Given the description of an element on the screen output the (x, y) to click on. 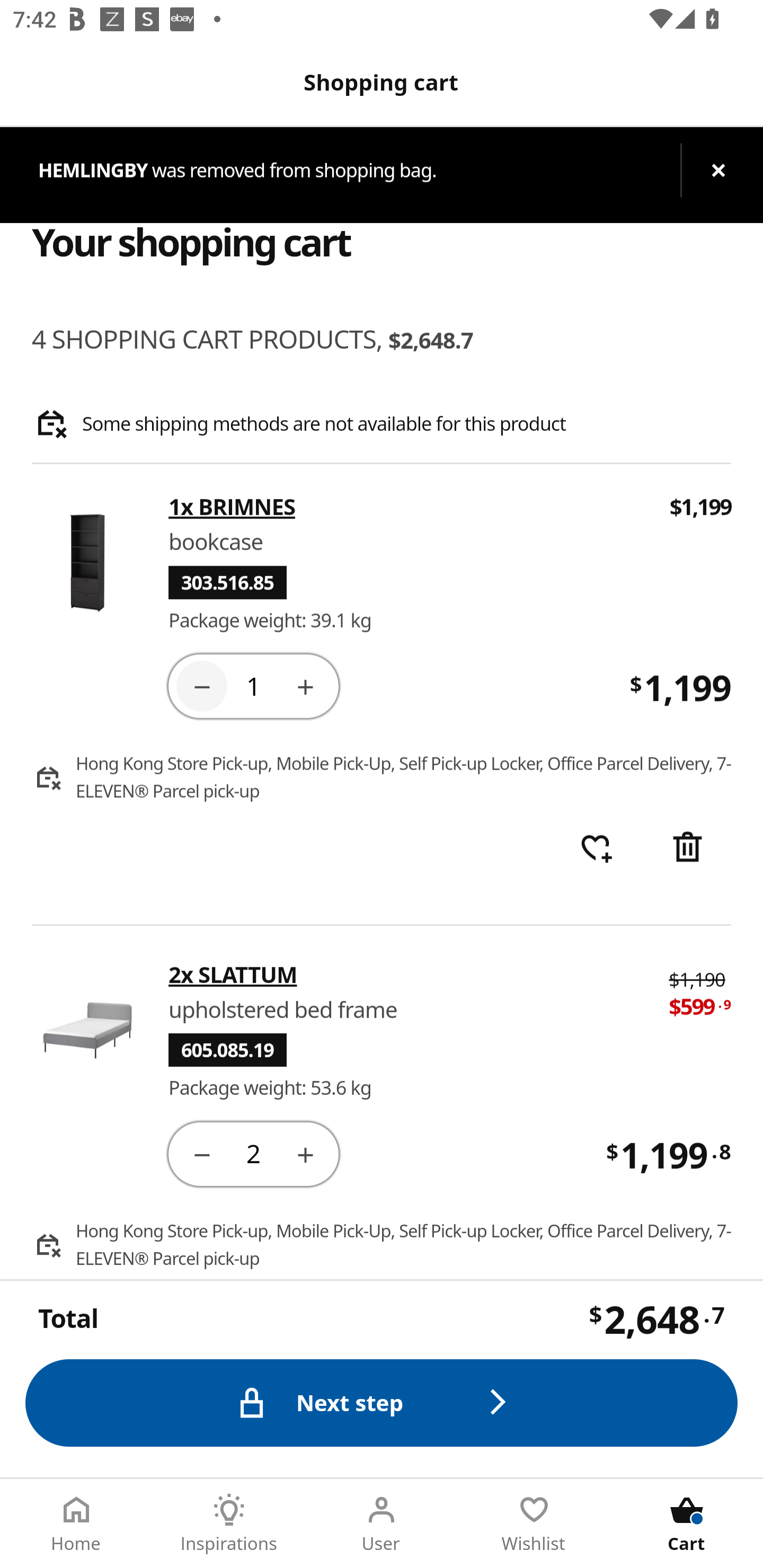
1x  BRIMNES 1x  BRIMNES (406, 507)
1 (253, 685)
 (201, 685)
 (305, 685)
  (595, 848)
 (686, 848)
2x  SLATTUM 2x  SLATTUM (405, 974)
2 (253, 1153)
 (201, 1153)
 (305, 1153)
Home
Tab 1 of 5 (76, 1522)
Inspirations
Tab 2 of 5 (228, 1522)
User
Tab 3 of 5 (381, 1522)
Wishlist
Tab 4 of 5 (533, 1522)
Cart
Tab 5 of 5 (686, 1522)
